Given the description of an element on the screen output the (x, y) to click on. 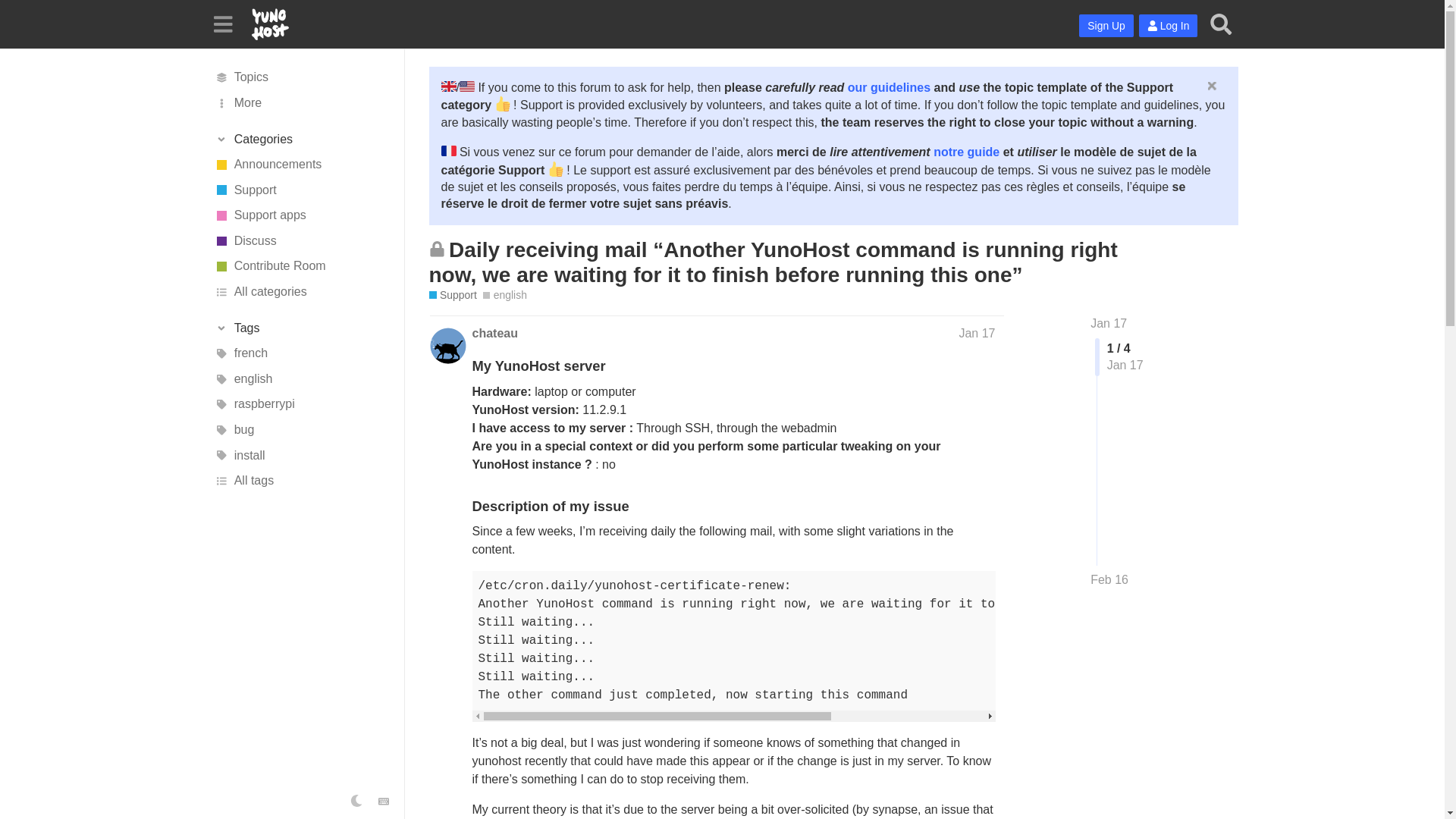
Log In (1168, 25)
Jan 17 (1108, 323)
Tags (301, 328)
Toggle color scheme (356, 800)
Content in English (301, 379)
News about YunoHost and the team. (301, 164)
Feb 16 (1109, 579)
Toggle section (301, 139)
Support (301, 190)
